Given the description of an element on the screen output the (x, y) to click on. 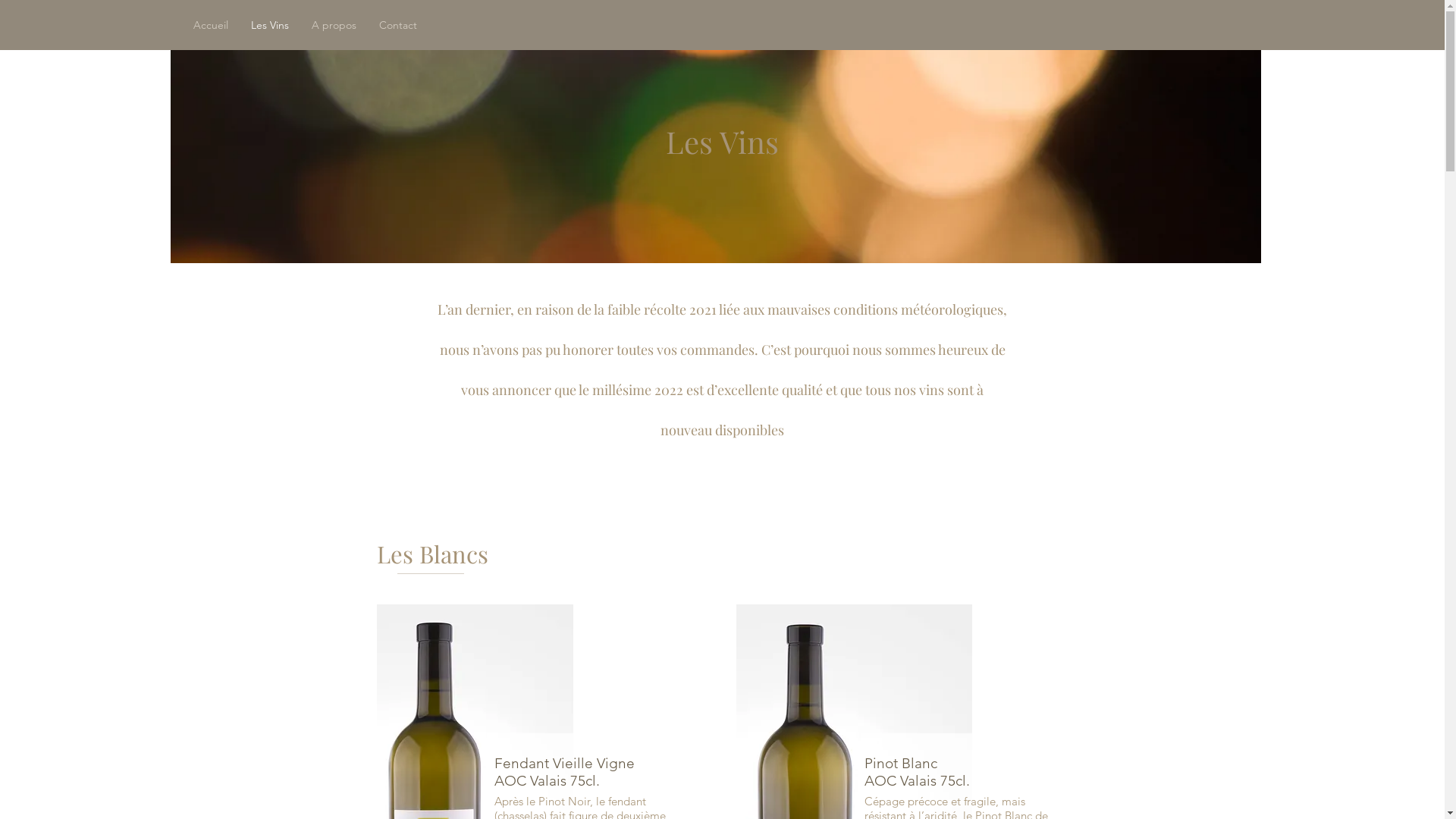
Accueil Element type: text (210, 24)
Les Vins Element type: text (269, 24)
A propos Element type: text (333, 24)
Contact Element type: text (397, 24)
